Given the description of an element on the screen output the (x, y) to click on. 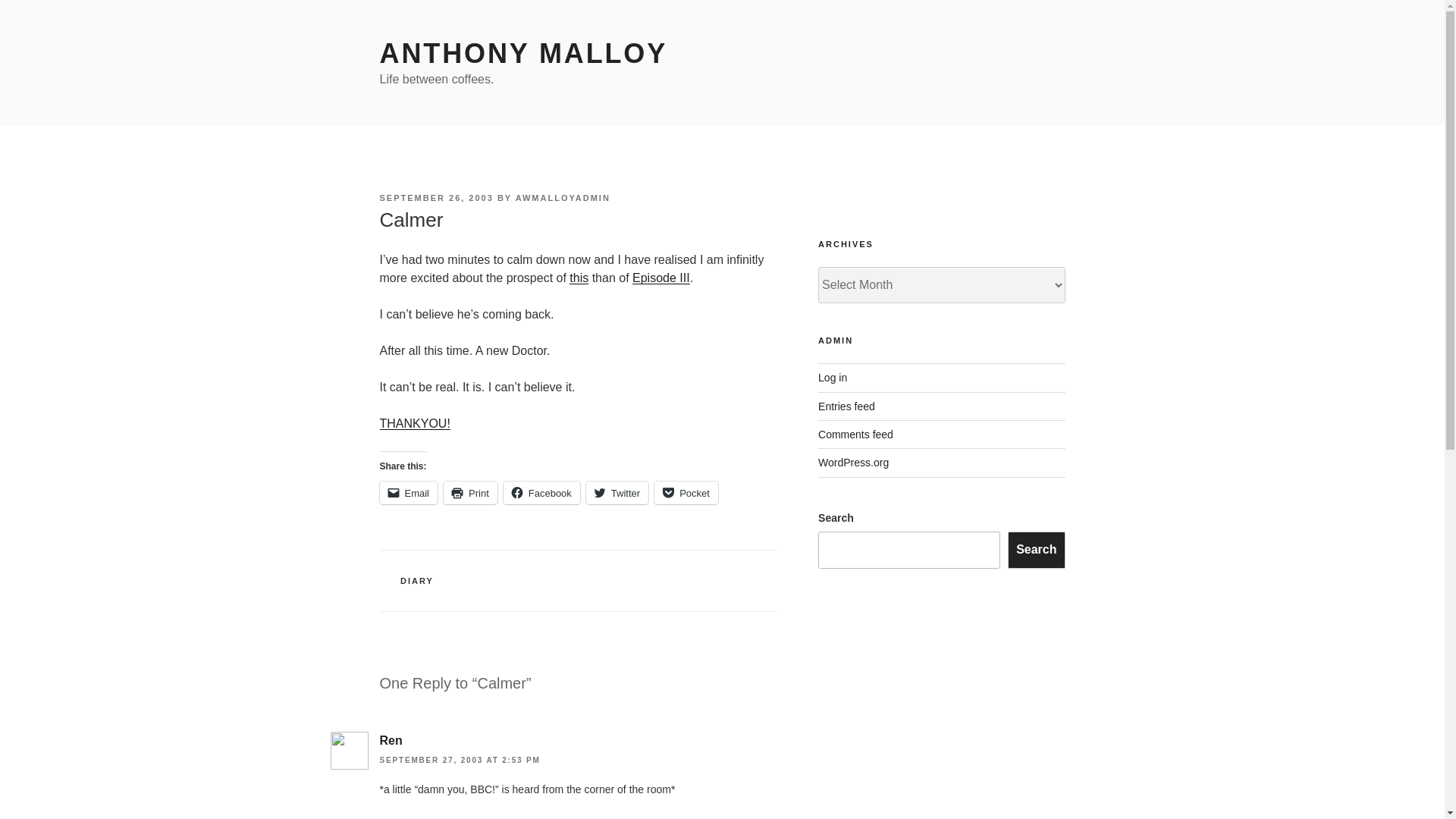
Log in (832, 377)
Search (1035, 549)
Email (408, 492)
Click to share on Pocket (685, 492)
SEPTEMBER 27, 2003 AT 2:53 PM (459, 759)
SEPTEMBER 26, 2003 (435, 197)
Click to print (470, 492)
AWMALLOYADMIN (562, 197)
Facebook (541, 492)
Click to email a link to a friend (408, 492)
Entries feed (846, 406)
Episode III (660, 277)
DIARY (416, 580)
ANTHONY MALLOY (522, 52)
THANKYOU! (413, 422)
